Given the description of an element on the screen output the (x, y) to click on. 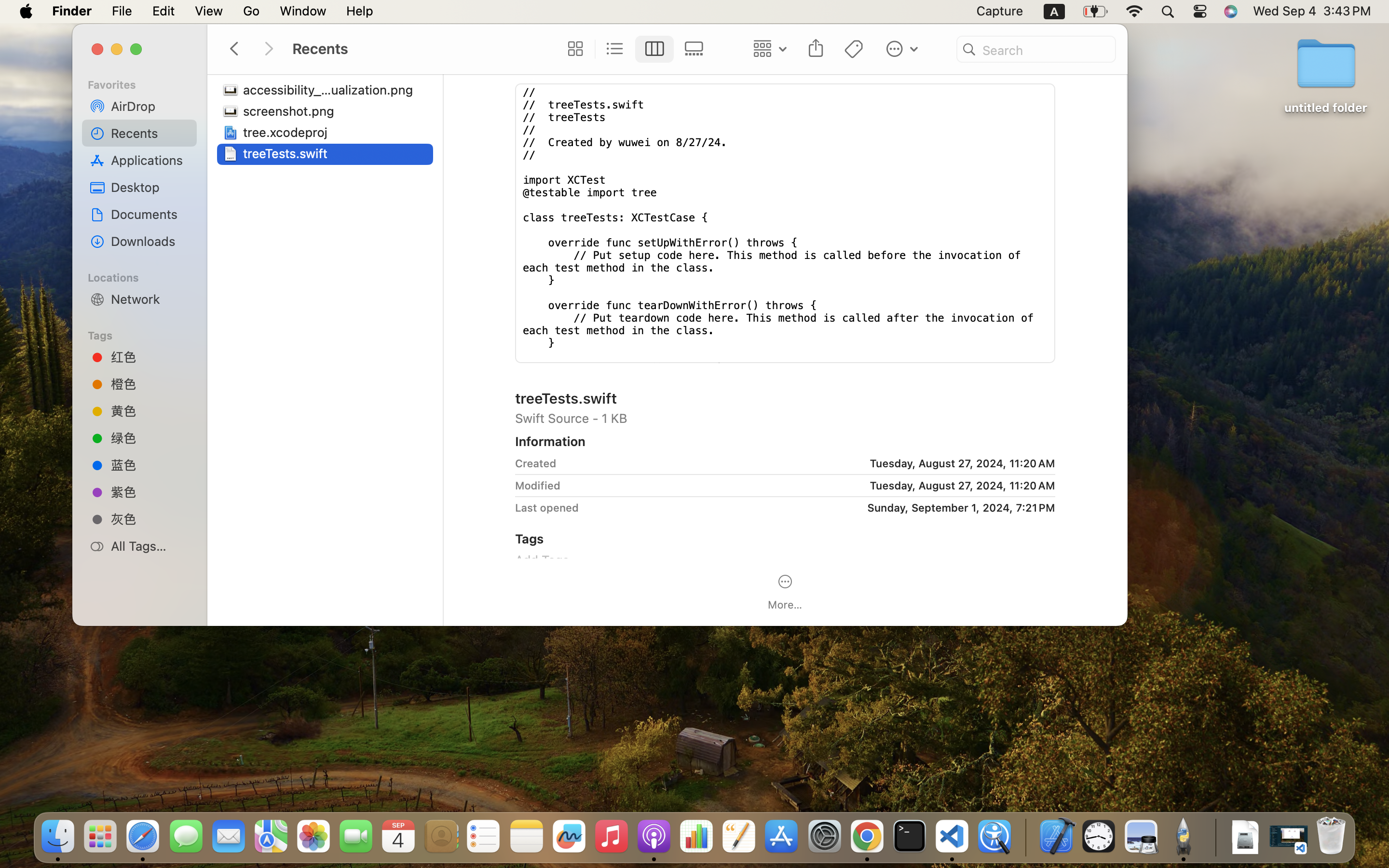
Downloads Element type: AXStaticText (149, 240)
